Given the description of an element on the screen output the (x, y) to click on. 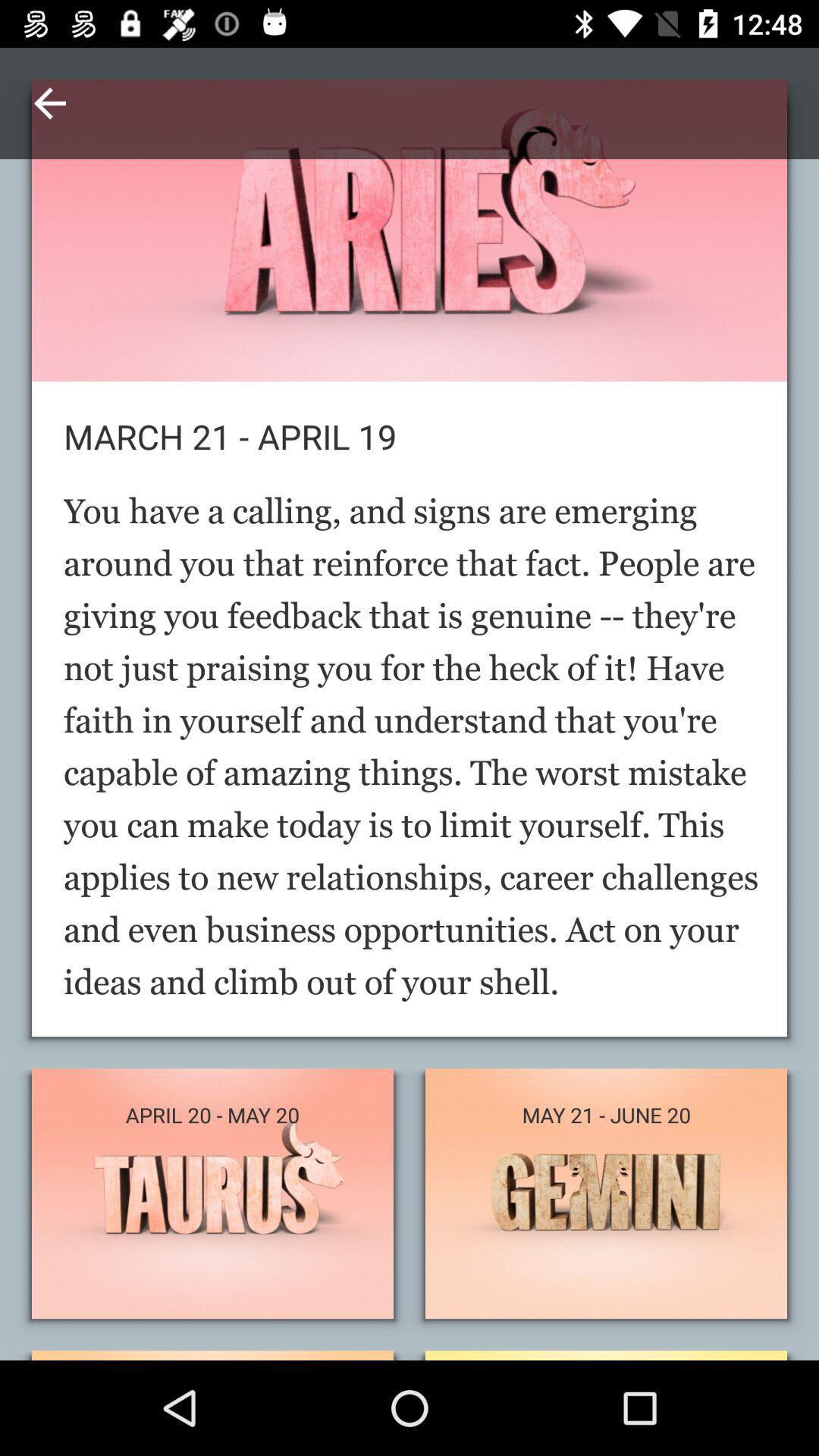
open the icon at the top left corner (49, 103)
